Given the description of an element on the screen output the (x, y) to click on. 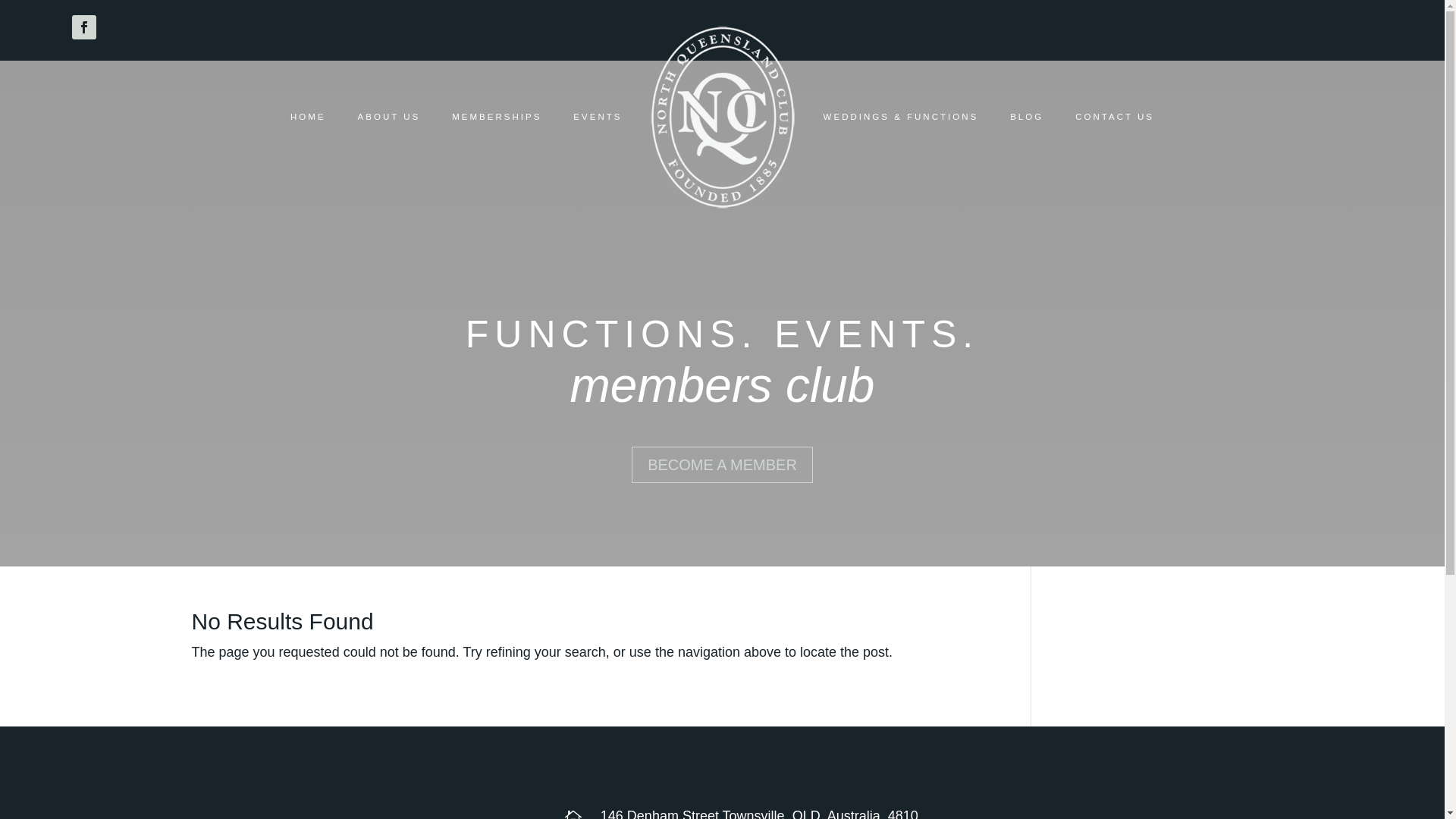
Follow on Facebook Element type: hover (84, 27)
EVENTS Element type: text (597, 116)
BECOME A MEMBER Element type: text (721, 464)
HOME Element type: text (308, 116)
MEMBERSHIPS Element type: text (496, 116)
ABOUT US Element type: text (388, 116)
BLOG Element type: text (1026, 116)
CONTACT US Element type: text (1114, 116)
WEDDINGS & FUNCTIONS Element type: text (901, 116)
